Given the description of an element on the screen output the (x, y) to click on. 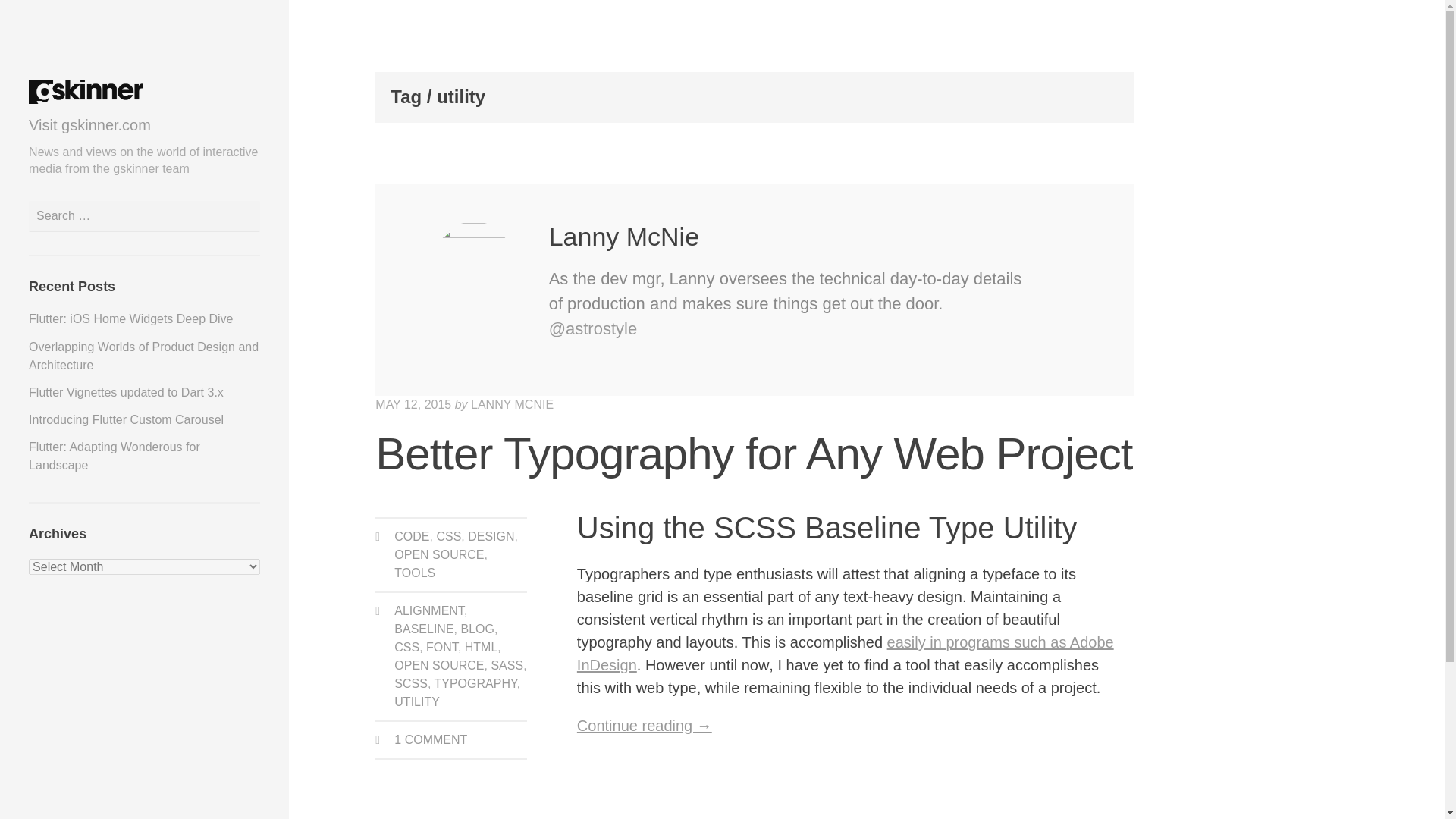
TYPOGRAPHY (474, 683)
Flutter: Adapting Wonderous for Landscape (114, 455)
OPEN SOURCE (438, 665)
UTILITY (416, 701)
1 COMMENT (430, 739)
MAY 12, 2015 (413, 404)
DESIGN (490, 535)
LANNY MCNIE (511, 404)
OPEN SOURCE (438, 554)
Overlapping Worlds of Product Design and Architecture (144, 355)
Visit gskinner.com (90, 125)
Flutter: iOS Home Widgets Deep Dive (130, 318)
SCSS (411, 683)
CODE (411, 535)
BASELINE (423, 628)
